Given the description of an element on the screen output the (x, y) to click on. 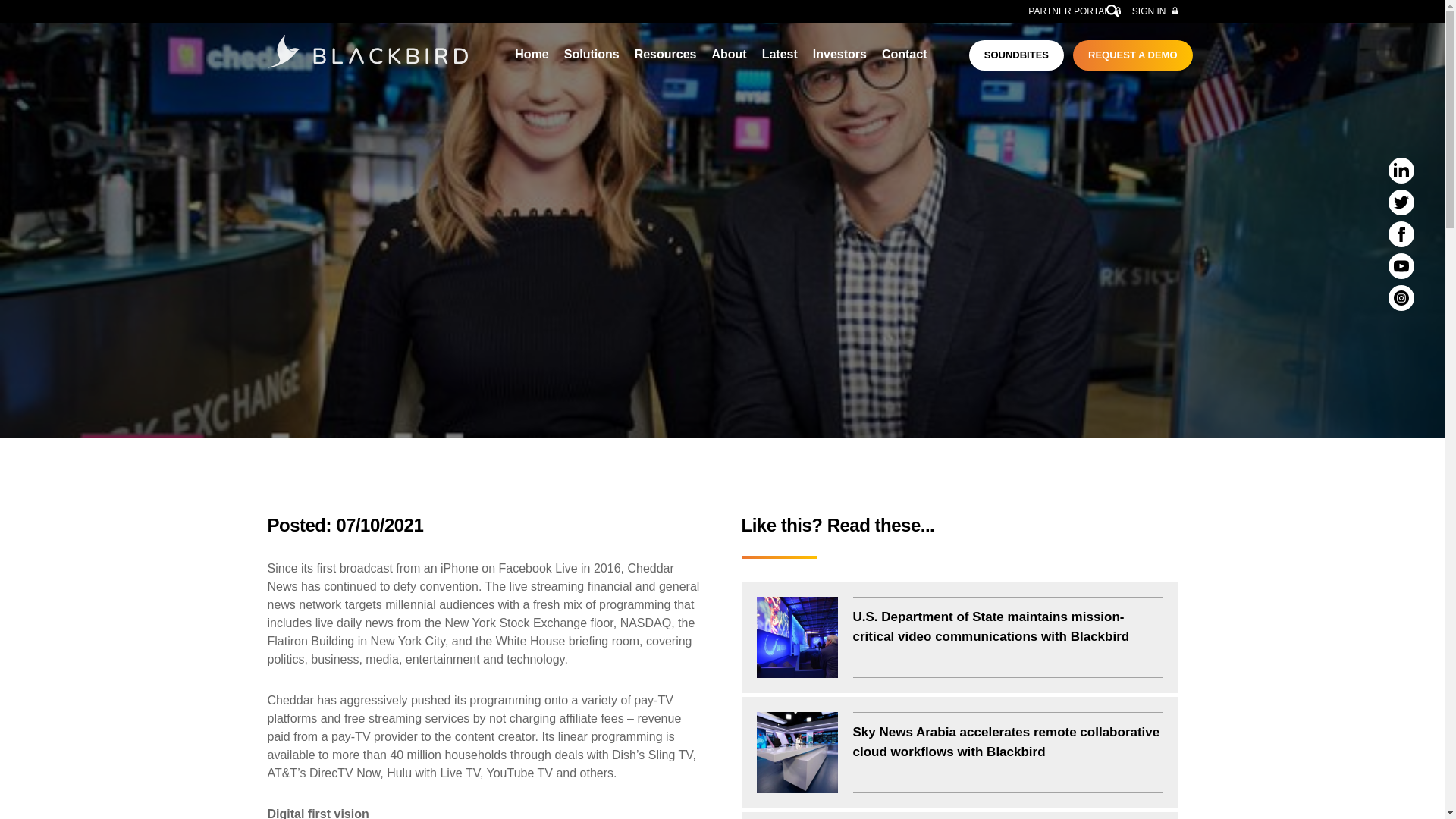
REQUEST A DEMO (1132, 55)
Solutions (592, 54)
Resources (665, 54)
Home (531, 54)
About (728, 54)
Investors (839, 54)
Latest (779, 54)
SOUNDBITES (1016, 55)
PARTNER PORTAL (1073, 11)
SIGN IN (1154, 11)
